Given the description of an element on the screen output the (x, y) to click on. 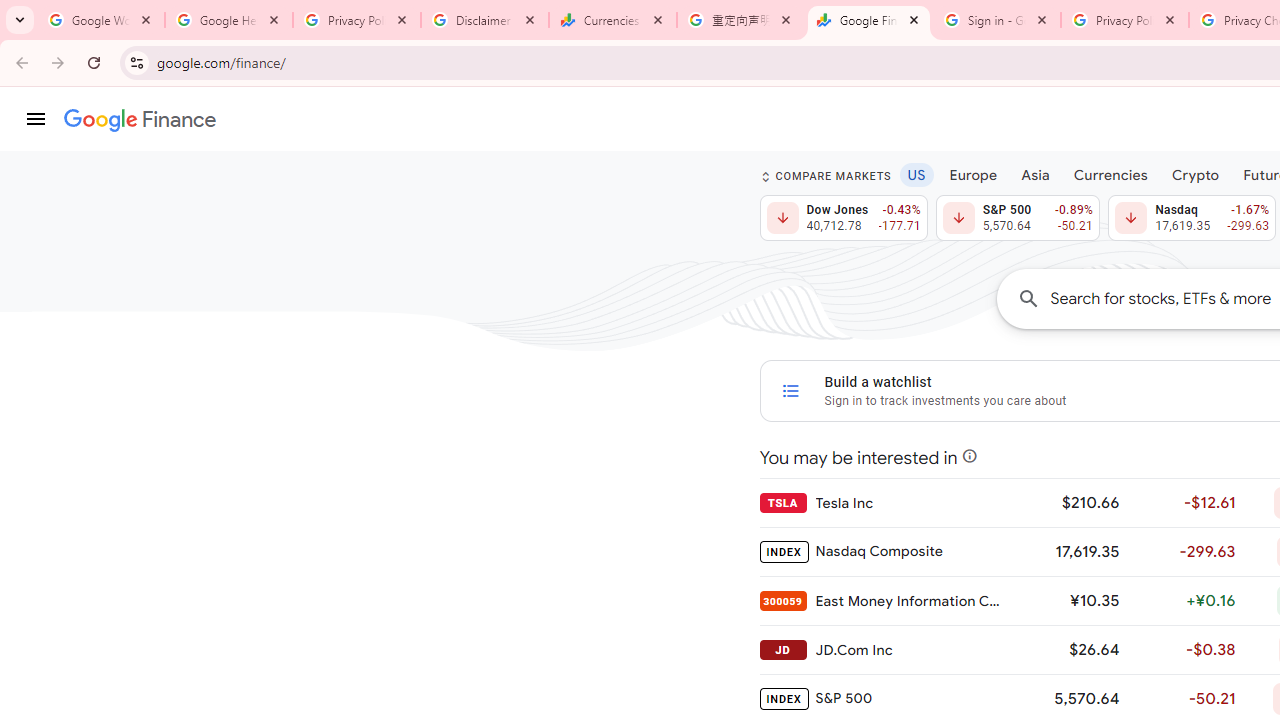
COMPARE MARKETS (825, 176)
Crypto (1195, 174)
S&P 500 5,570.64 Down by 0.89% -50.21 (1017, 218)
US (916, 174)
Currencies (1109, 174)
Nasdaq 17,619.35 Down by 1.67% -299.63 (1192, 218)
Dow Jones 40,712.78 Down by 0.43% -177.71 (843, 218)
Google Workspace Admin Community (101, 20)
Finance (140, 120)
Main menu (35, 119)
